Given the description of an element on the screen output the (x, y) to click on. 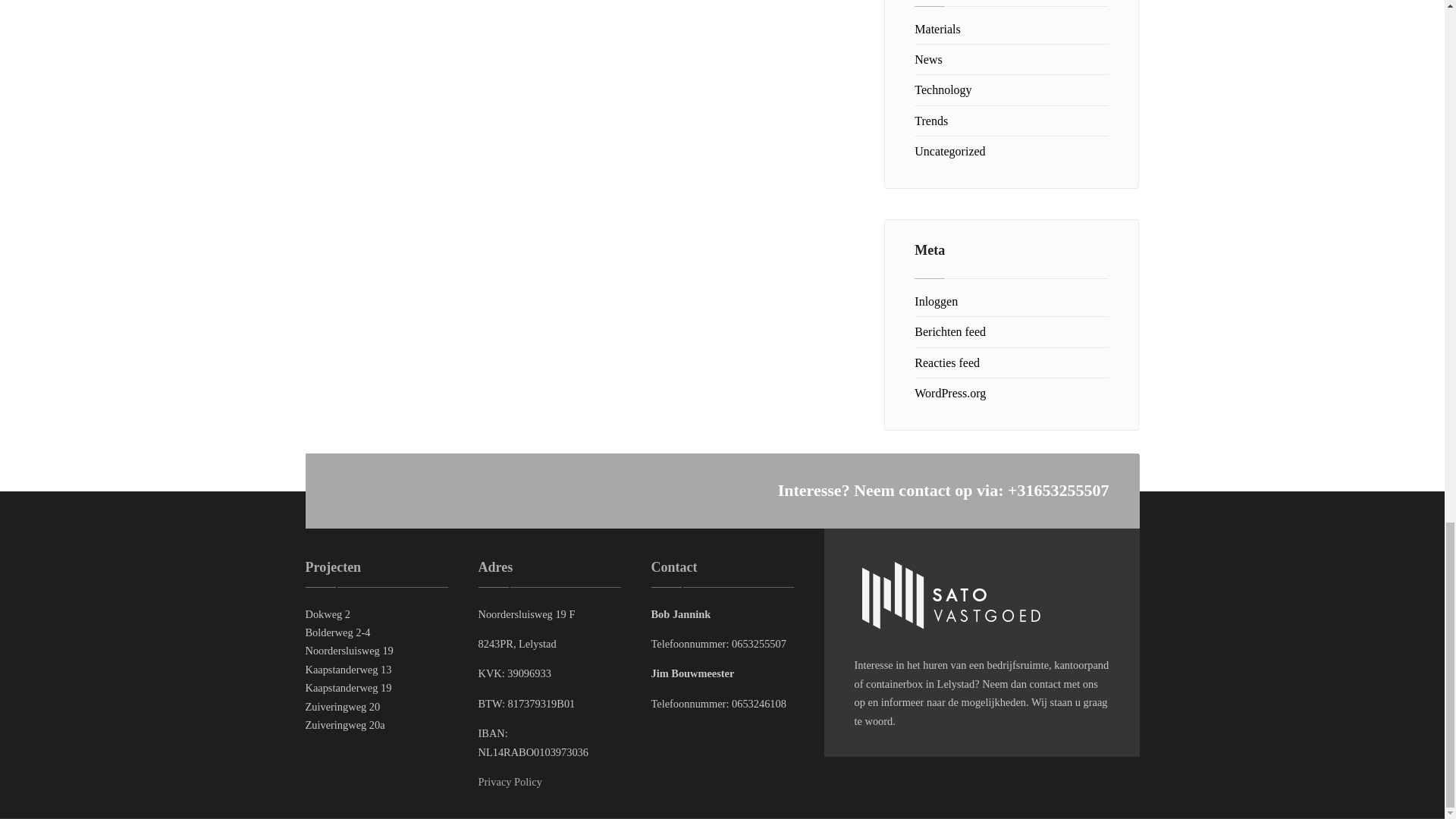
News (928, 59)
Technology (942, 89)
Uncategorized (949, 151)
Trends (930, 120)
Inloggen (936, 300)
Materials (936, 29)
Berichten feed (949, 331)
